Given the description of an element on the screen output the (x, y) to click on. 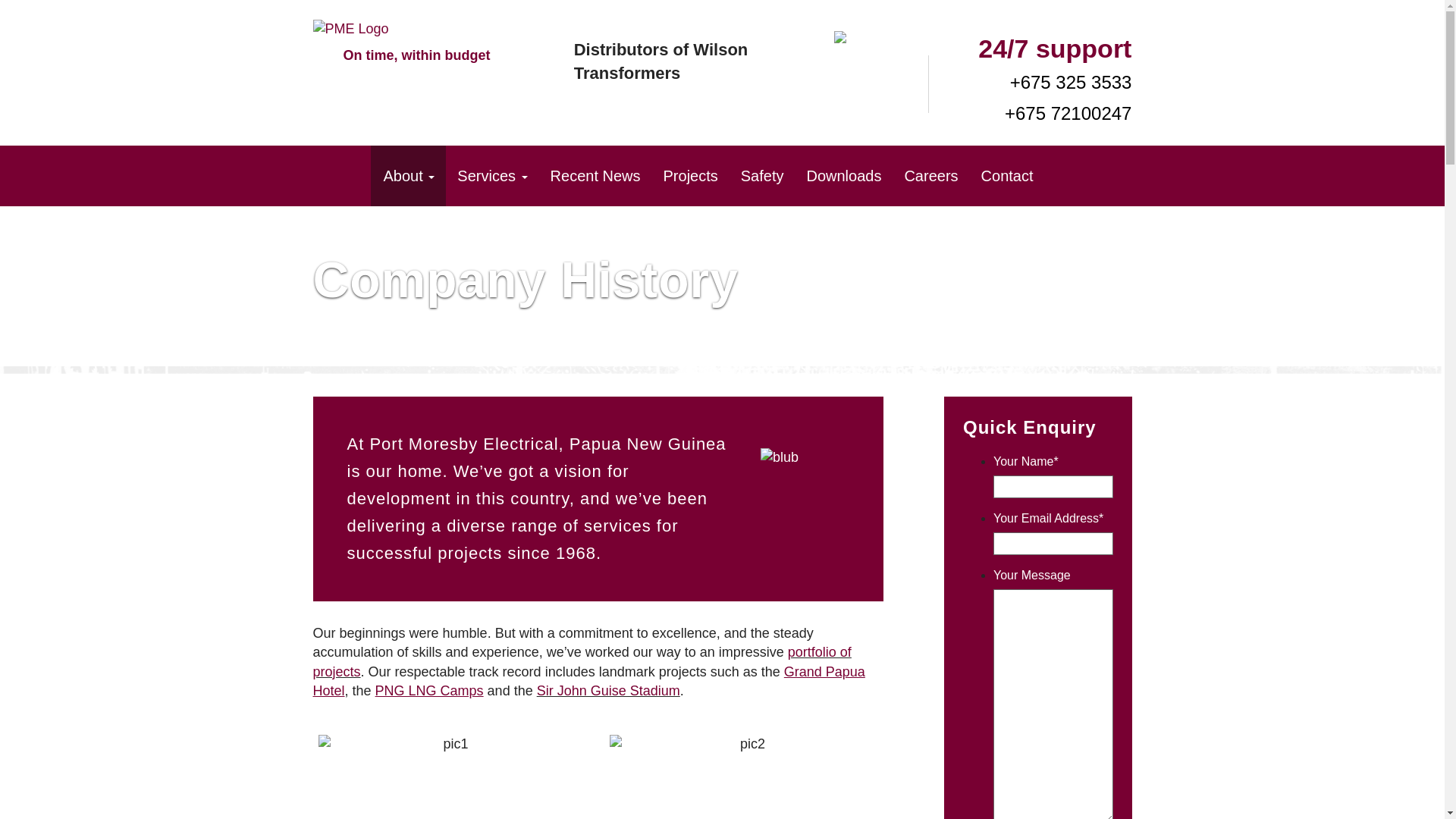
Services (491, 175)
Home (341, 175)
Sir John Guise Stadium (608, 690)
portfolio of projects (581, 661)
Home (341, 175)
About (407, 175)
Downloads (842, 175)
Recent News (594, 175)
Careers (930, 175)
About (407, 175)
